Given the description of an element on the screen output the (x, y) to click on. 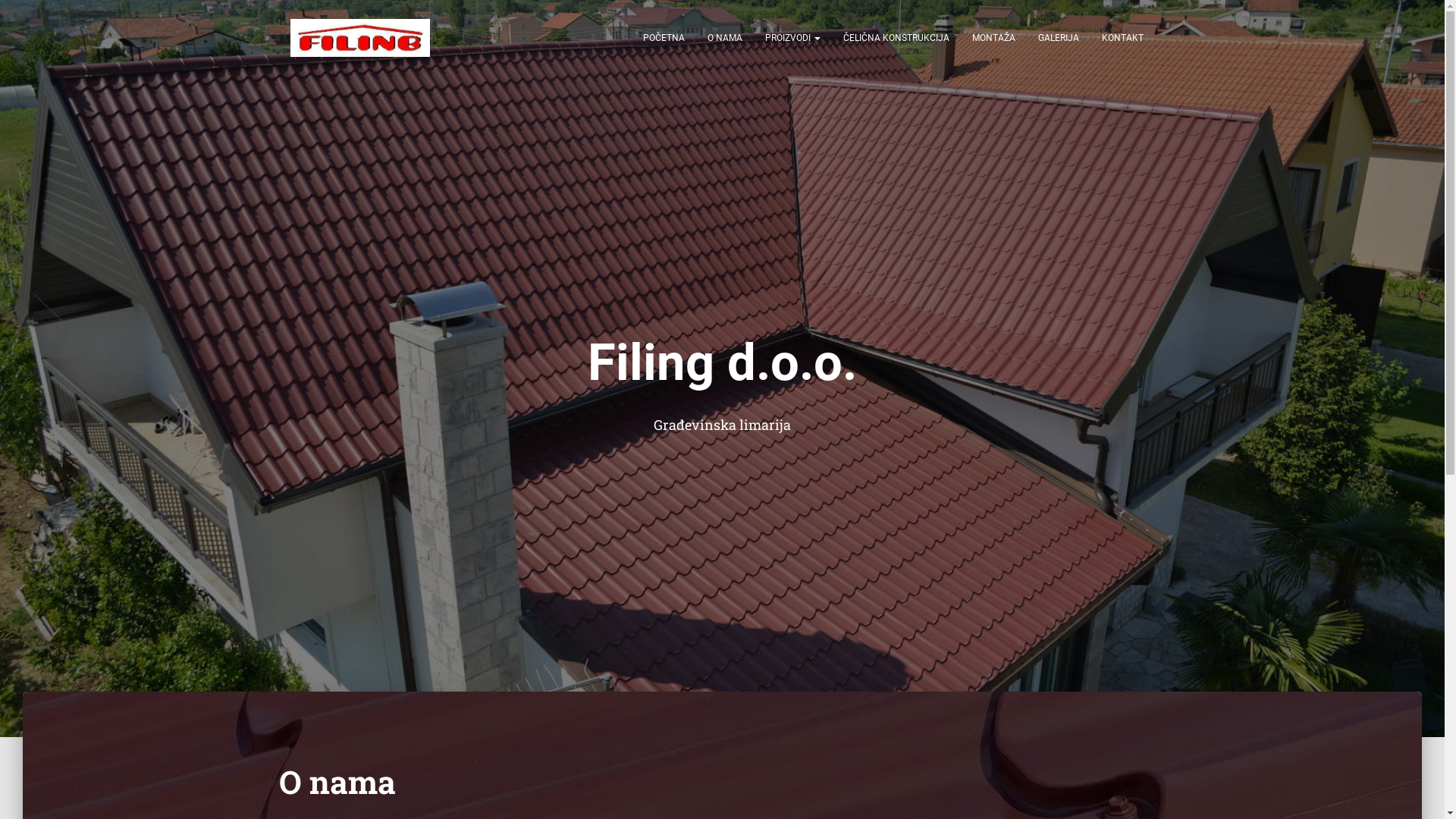
PROIZVODI Element type: text (792, 37)
GALERIJA Element type: text (1058, 37)
KONTAKT Element type: text (1122, 37)
Filing Element type: hover (360, 37)
O NAMA Element type: text (724, 37)
